Given the description of an element on the screen output the (x, y) to click on. 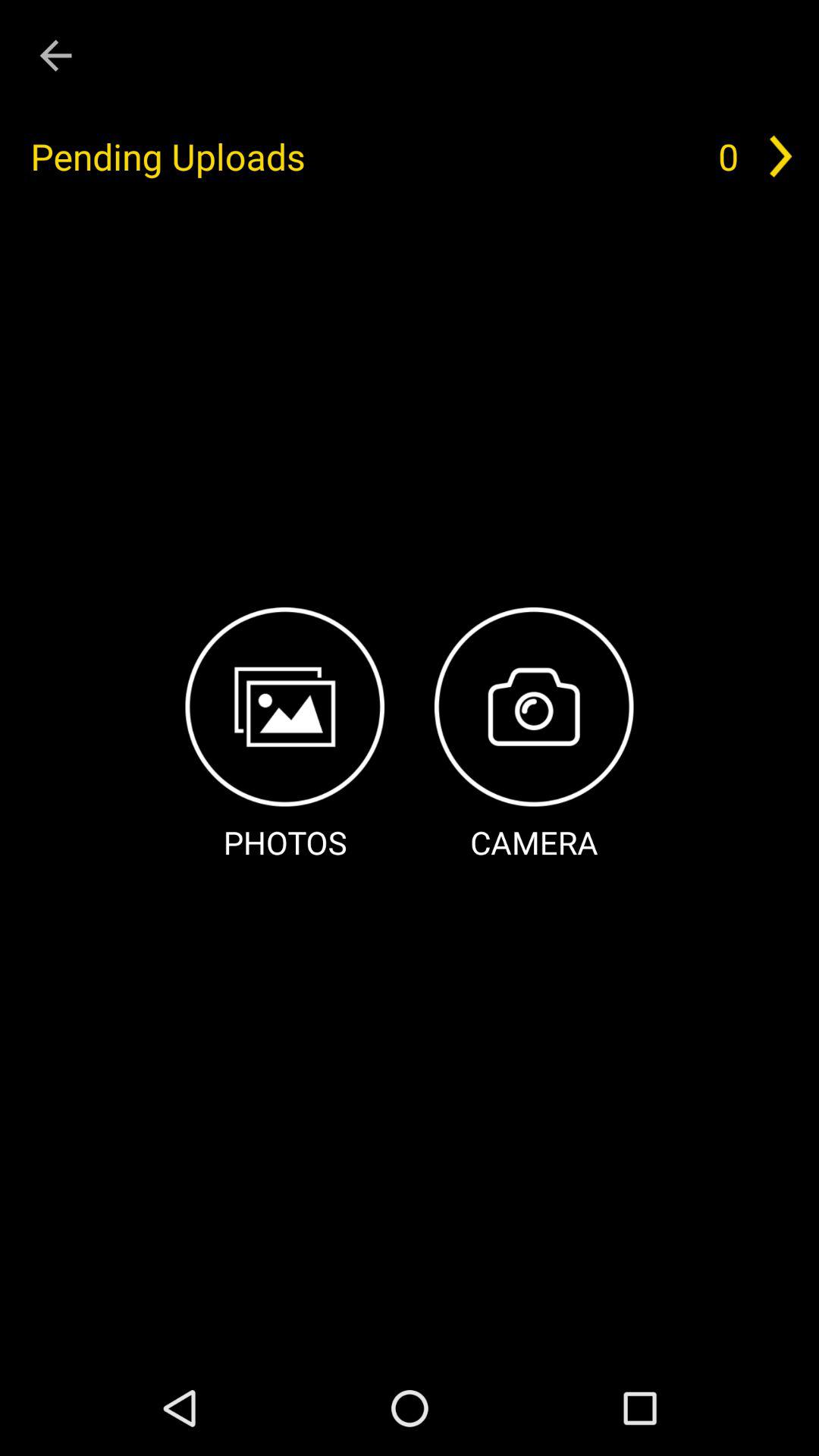
press item at the top left corner (55, 55)
